Given the description of an element on the screen output the (x, y) to click on. 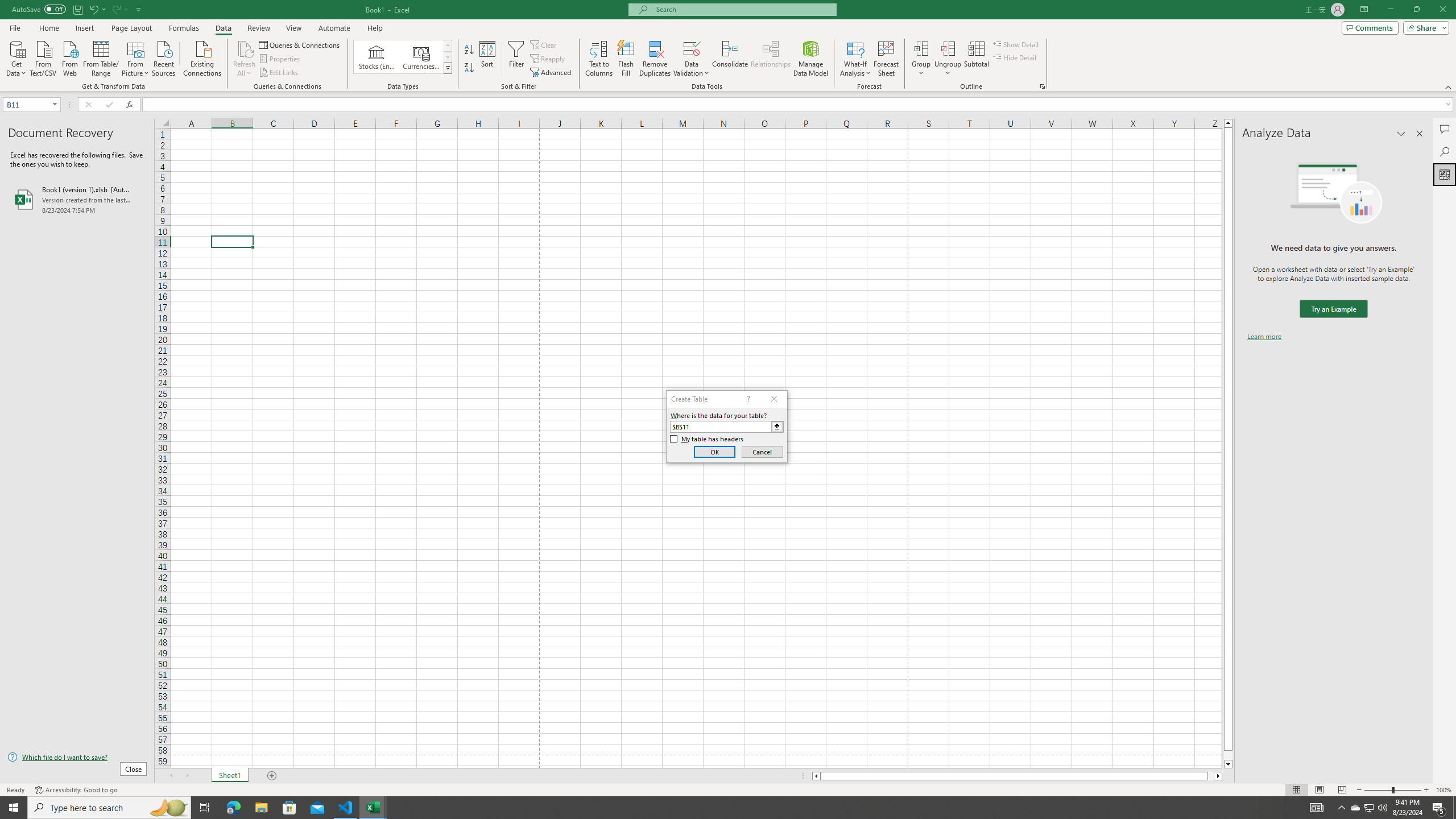
From Picture (135, 57)
We need data to give you answers. Try an Example (1333, 308)
